Given the description of an element on the screen output the (x, y) to click on. 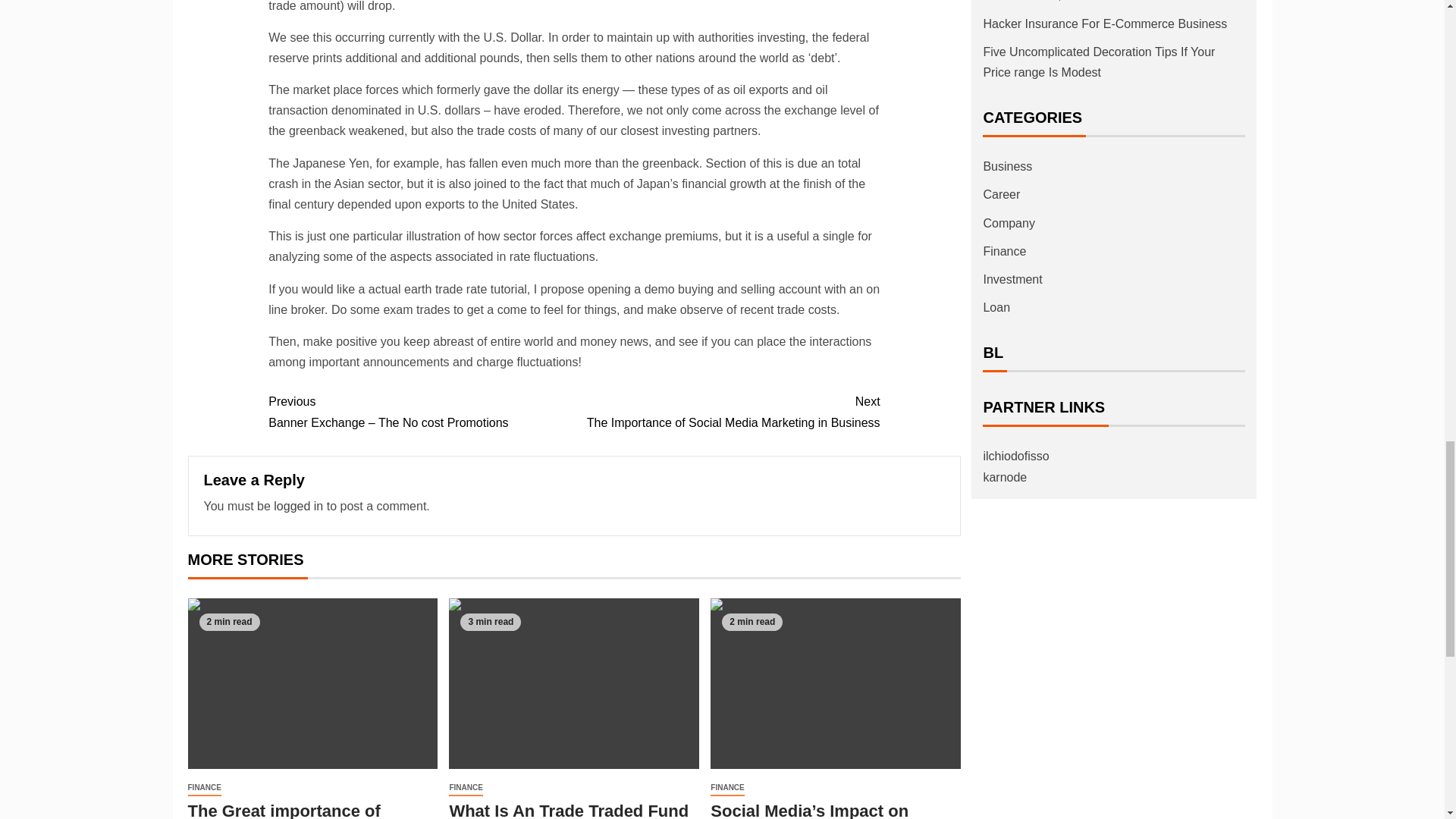
logged in (298, 505)
FINANCE (464, 788)
What Is An Trade Traded Fund and How It Works (568, 810)
What Is An Trade Traded Fund and How It Works (573, 683)
FINANCE (204, 788)
FINANCE (726, 411)
